Given the description of an element on the screen output the (x, y) to click on. 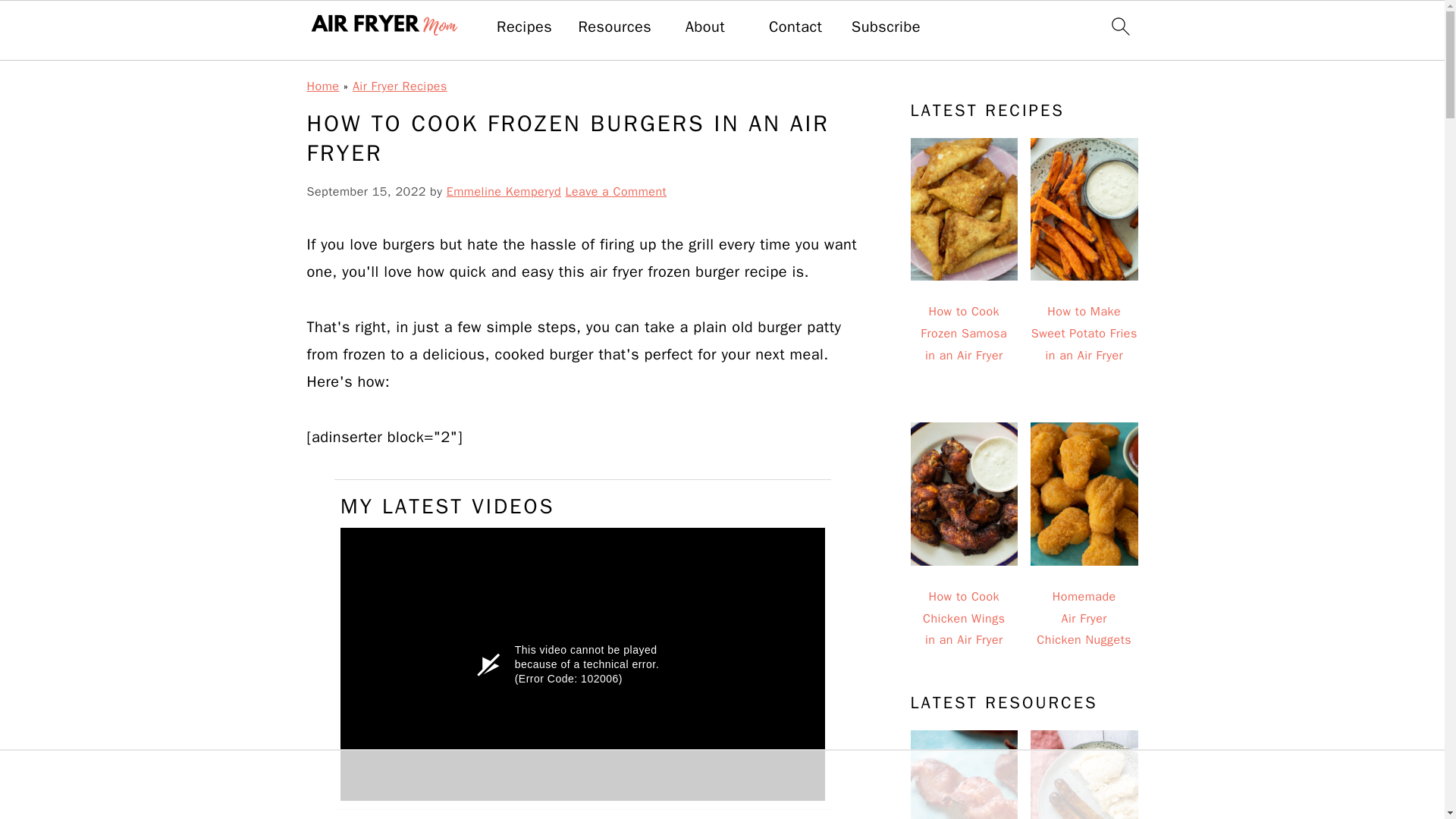
Recipes (523, 27)
Home (322, 86)
Air Fryer Recipes (399, 86)
Subscribe (885, 27)
Leave a Comment (615, 191)
Resources (614, 27)
Emmeline Kemperyd (503, 191)
search icon (1119, 26)
Contact (795, 27)
About (705, 27)
